Given the description of an element on the screen output the (x, y) to click on. 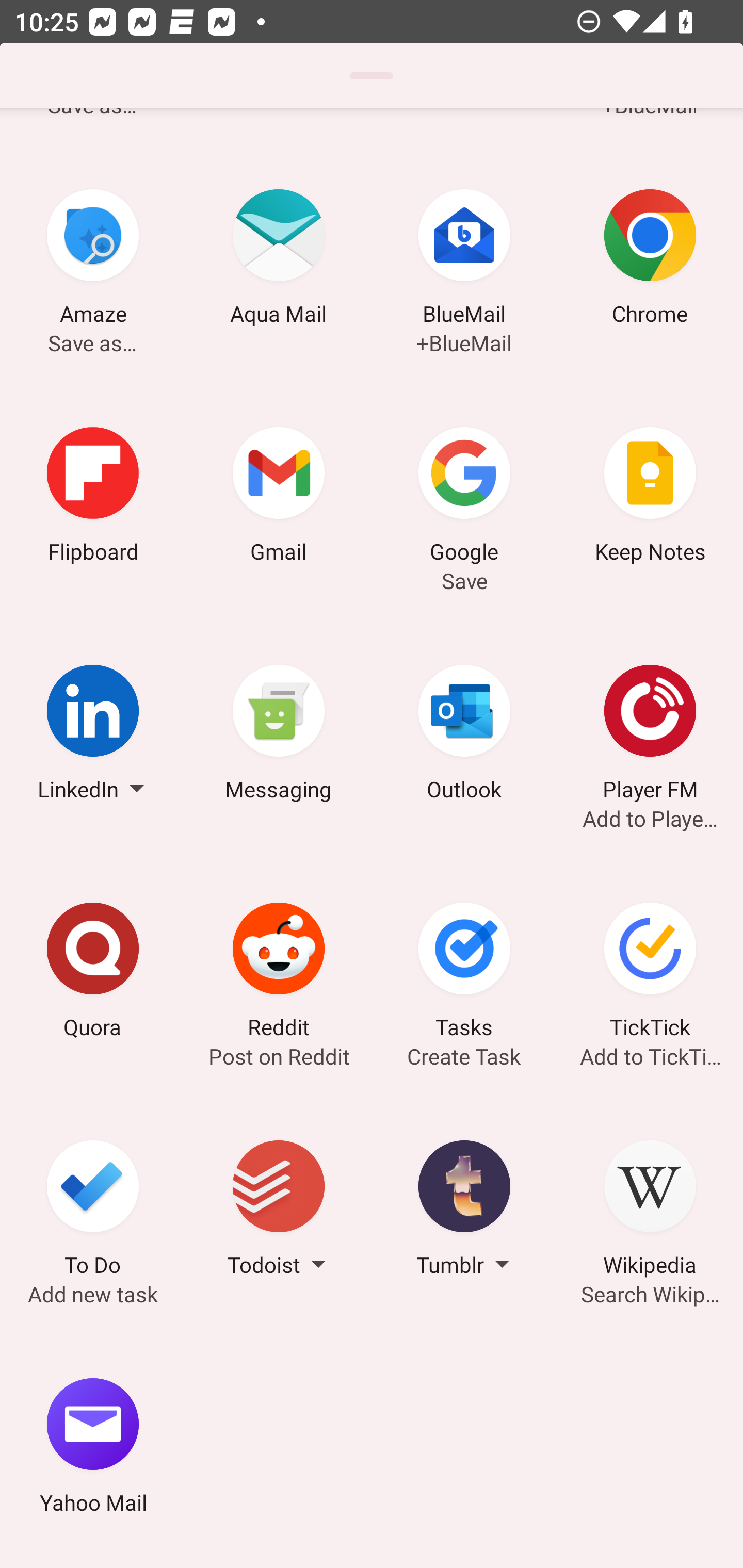
Amaze Save as… (92, 260)
Aqua Mail (278, 260)
BlueMail +BlueMail (464, 260)
Chrome (650, 260)
Flipboard (92, 497)
Gmail (278, 497)
Google Save (464, 497)
Keep Notes (650, 497)
LinkedIn (92, 735)
Messaging (278, 735)
Outlook (464, 735)
Player FM Add to Player FM (650, 735)
Quora (92, 973)
Reddit Post on Reddit (278, 973)
Tasks Create Task (464, 973)
TickTick Add to TickTick (650, 973)
To Do Add new task (92, 1210)
Todoist (278, 1210)
Tumblr (464, 1210)
Wikipedia Search Wikipedia (650, 1210)
Yahoo Mail (92, 1448)
